Given the description of an element on the screen output the (x, y) to click on. 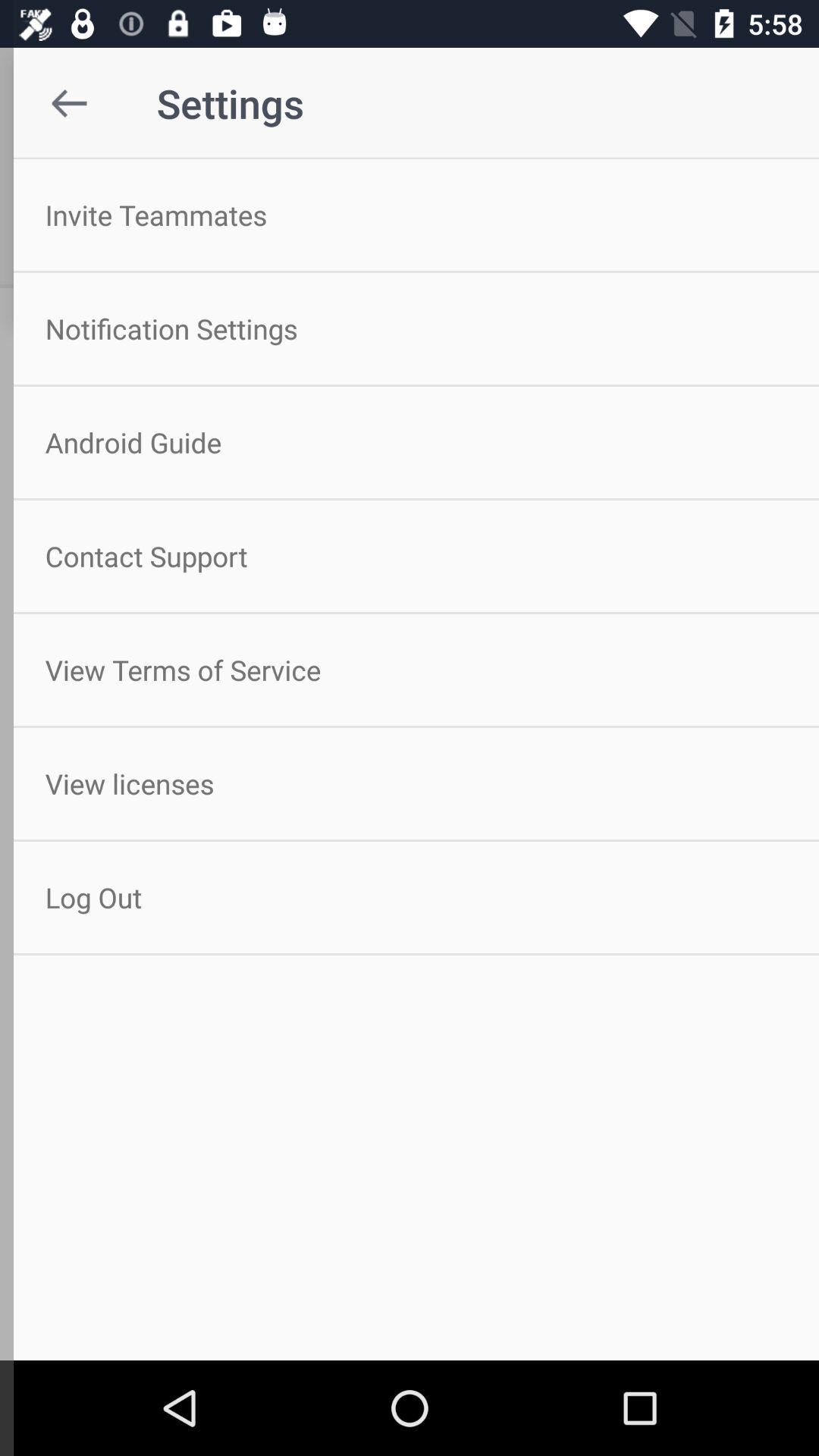
open icon below the android guide icon (409, 555)
